Given the description of an element on the screen output the (x, y) to click on. 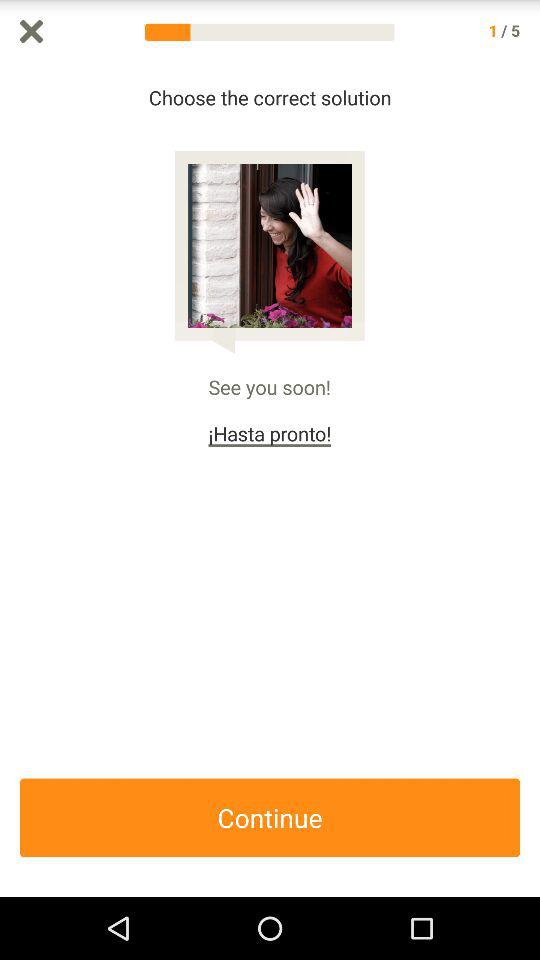
turn off the continue (269, 817)
